Given the description of an element on the screen output the (x, y) to click on. 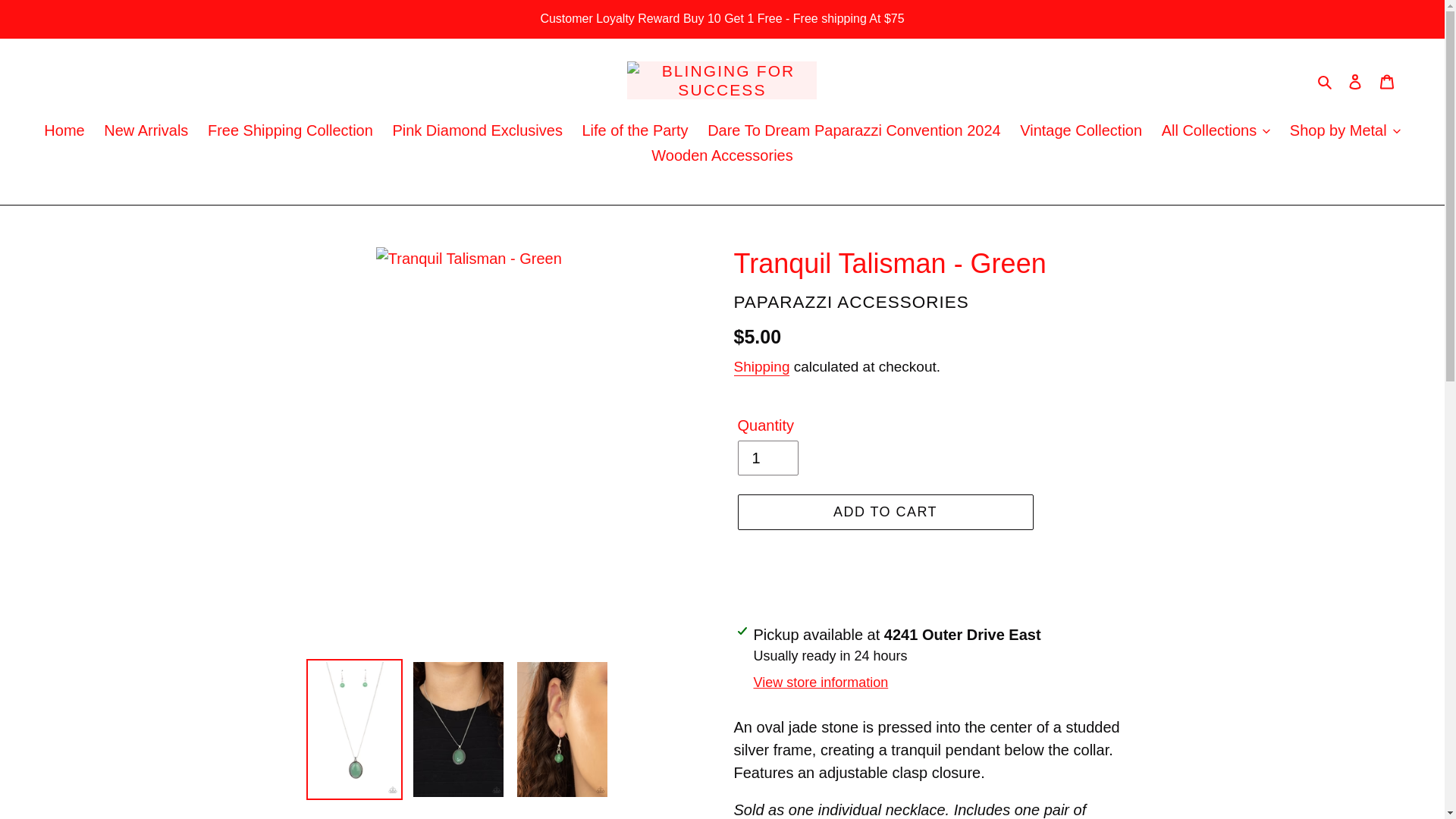
1 (766, 457)
Search (1326, 79)
